Given the description of an element on the screen output the (x, y) to click on. 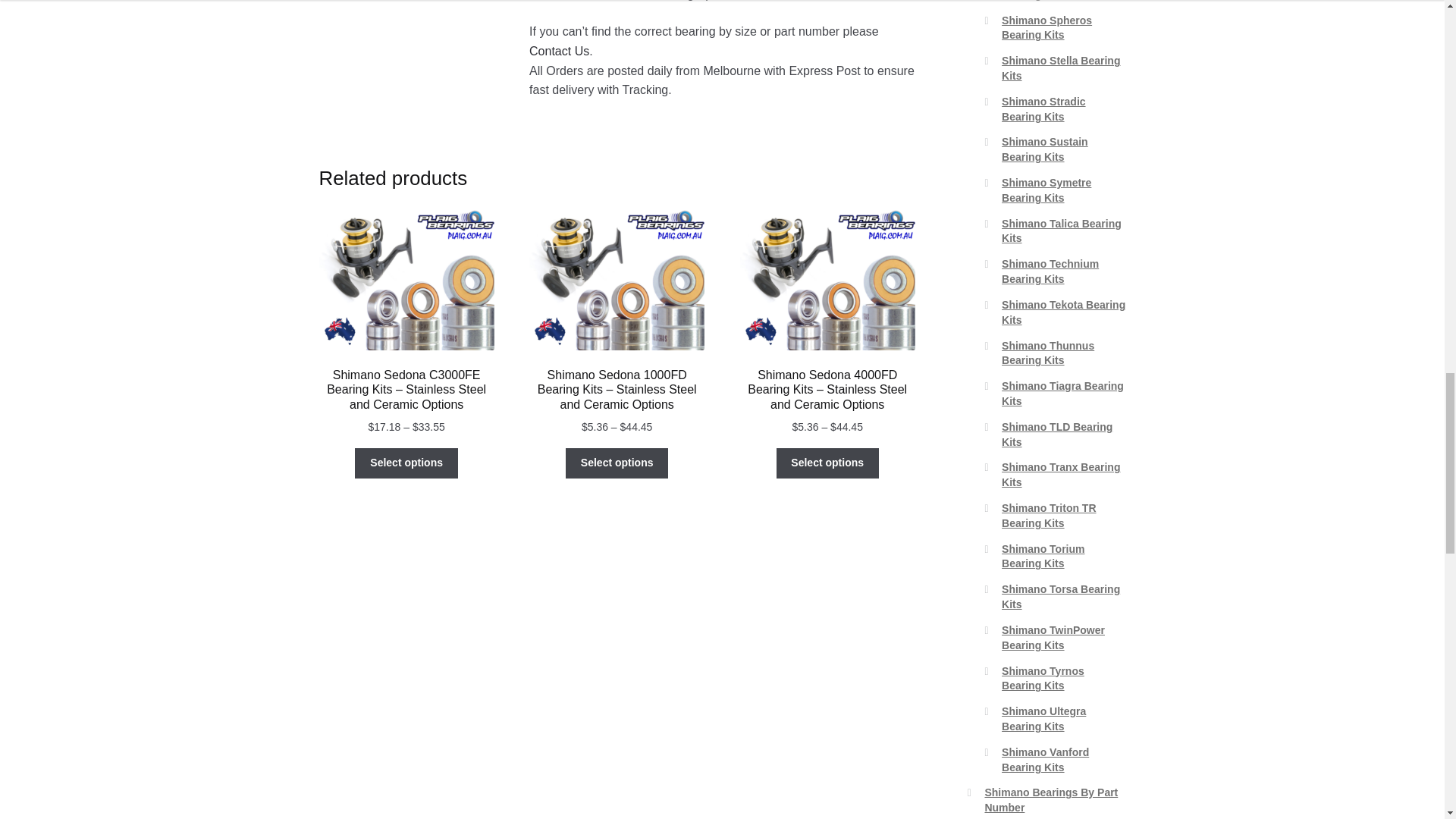
Original price:44.45 (636, 426)
Original price:44.45 (846, 426)
Original price:5.36 (594, 426)
Original price:5.36 (805, 426)
Original price:33.55 (428, 426)
Original price:17.18 (384, 426)
